Given the description of an element on the screen output the (x, y) to click on. 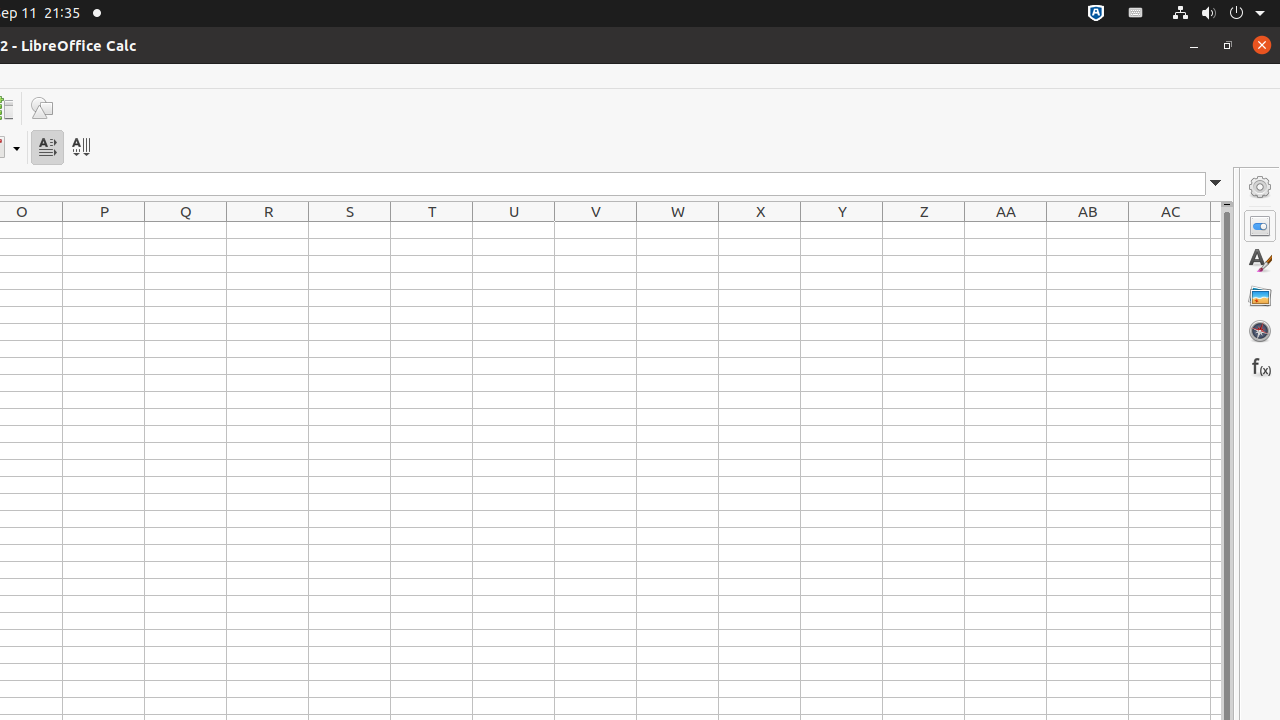
Styles Element type: radio-button (1260, 261)
AD1 Element type: table-cell (1216, 230)
AA1 Element type: table-cell (1006, 230)
Y1 Element type: table-cell (842, 230)
Z1 Element type: table-cell (924, 230)
